Given the description of an element on the screen output the (x, y) to click on. 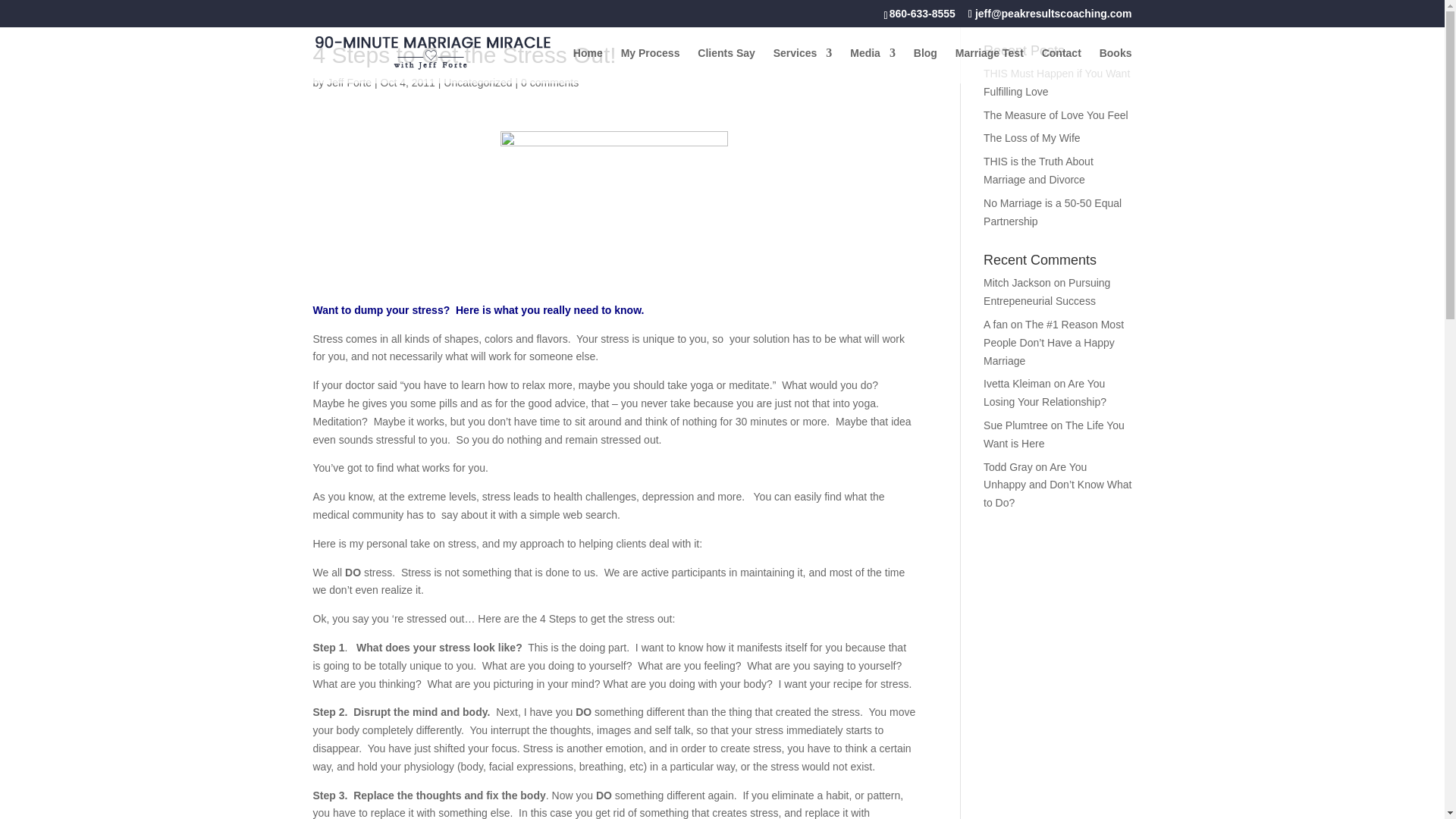
THIS Must Happen if You Want Fulfilling Love (1056, 82)
0 comments (549, 82)
Clients Say (725, 65)
Ivetta Kleiman (1017, 383)
Are You Losing Your Relationship? (1045, 392)
Media (872, 65)
The Life You Want is Here (1054, 434)
Pursuing Entrepeneurial Success (1046, 291)
Todd Gray (1008, 467)
The Measure of Love You Feel (1056, 114)
